Given the description of an element on the screen output the (x, y) to click on. 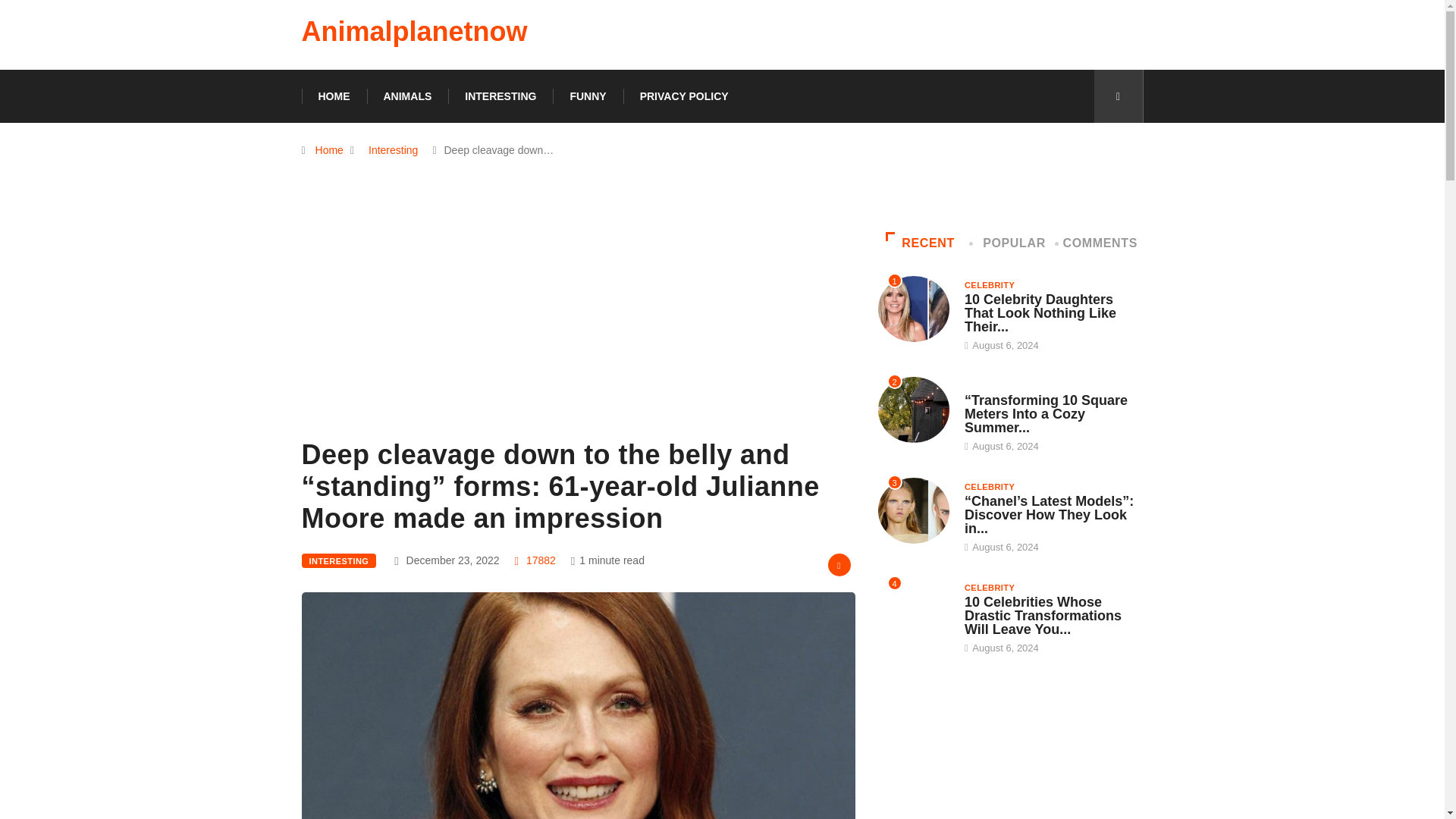
Animalplanetnow (414, 31)
Home (329, 150)
popup modal for search (1117, 95)
FUNNY (588, 95)
INTERESTING (339, 560)
ANIMALS (407, 95)
Advertisement (578, 328)
INTERESTING (500, 95)
PRIVACY POLICY (684, 95)
HOME (333, 95)
Interesting (393, 150)
